Given the description of an element on the screen output the (x, y) to click on. 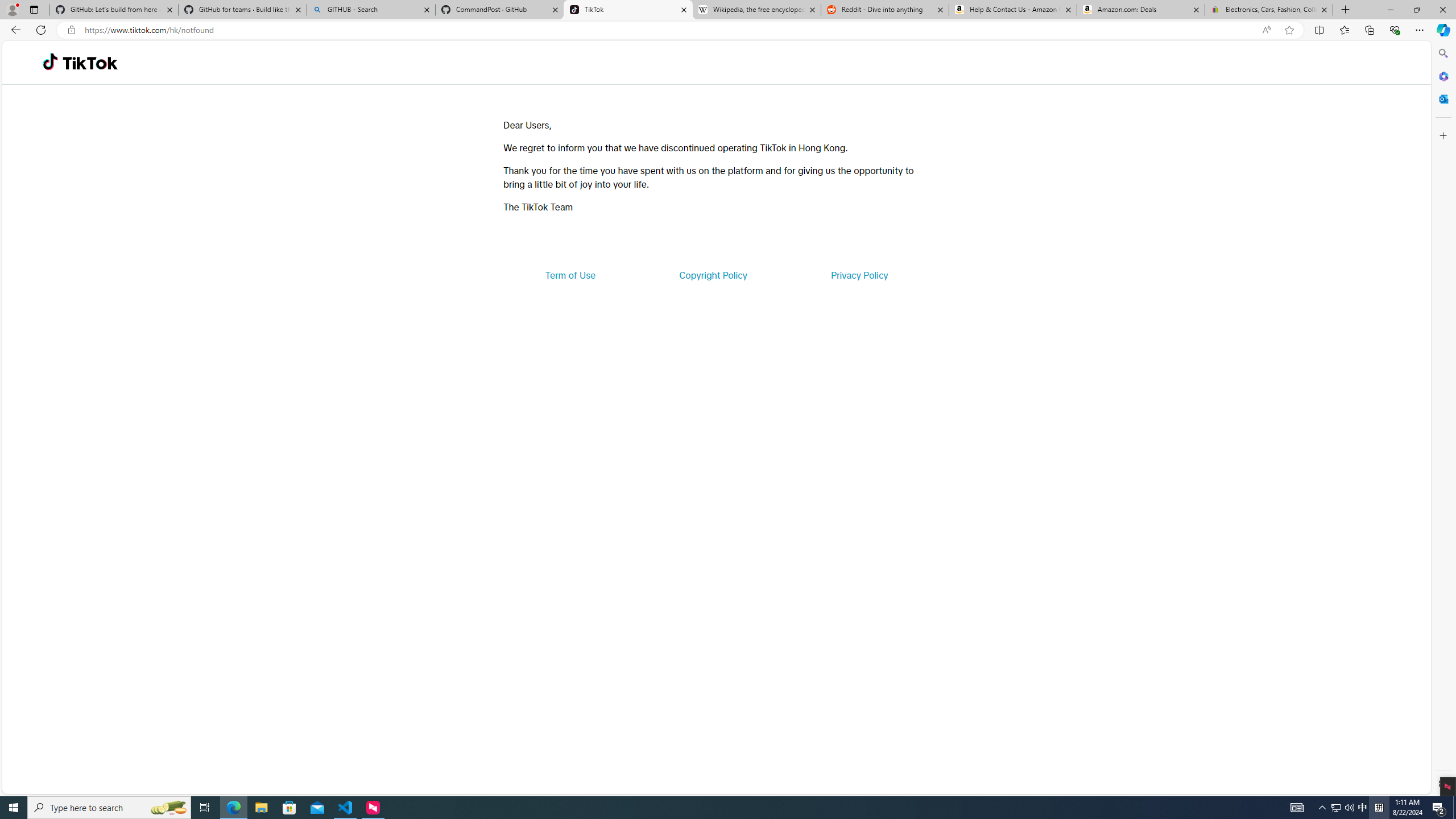
Help & Contact Us - Amazon Customer Service (1012, 9)
Term of Use (569, 274)
